Given the description of an element on the screen output the (x, y) to click on. 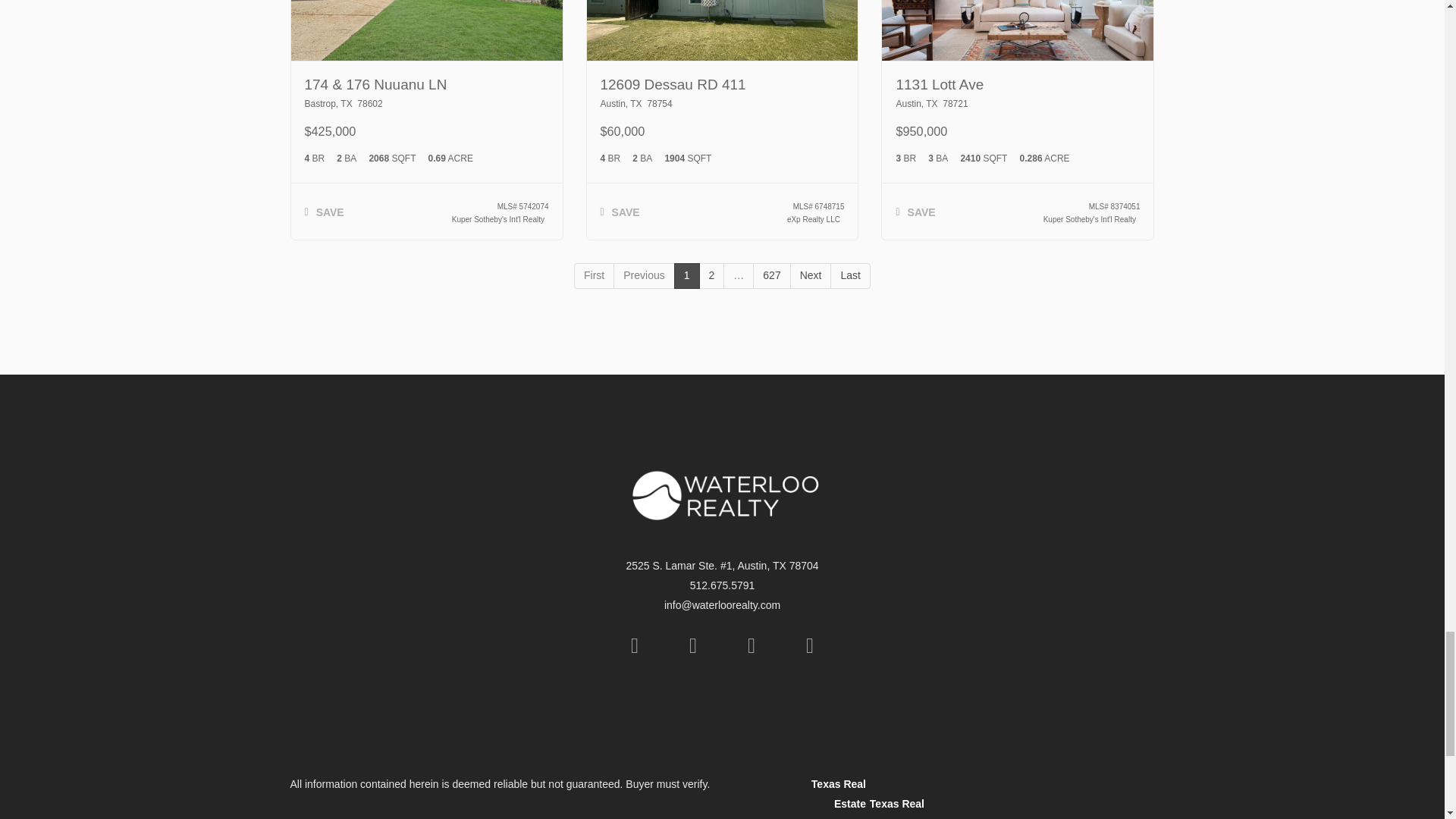
SAVE (619, 214)
SAVE (323, 214)
SAVE (914, 214)
First (593, 275)
